Given the description of an element on the screen output the (x, y) to click on. 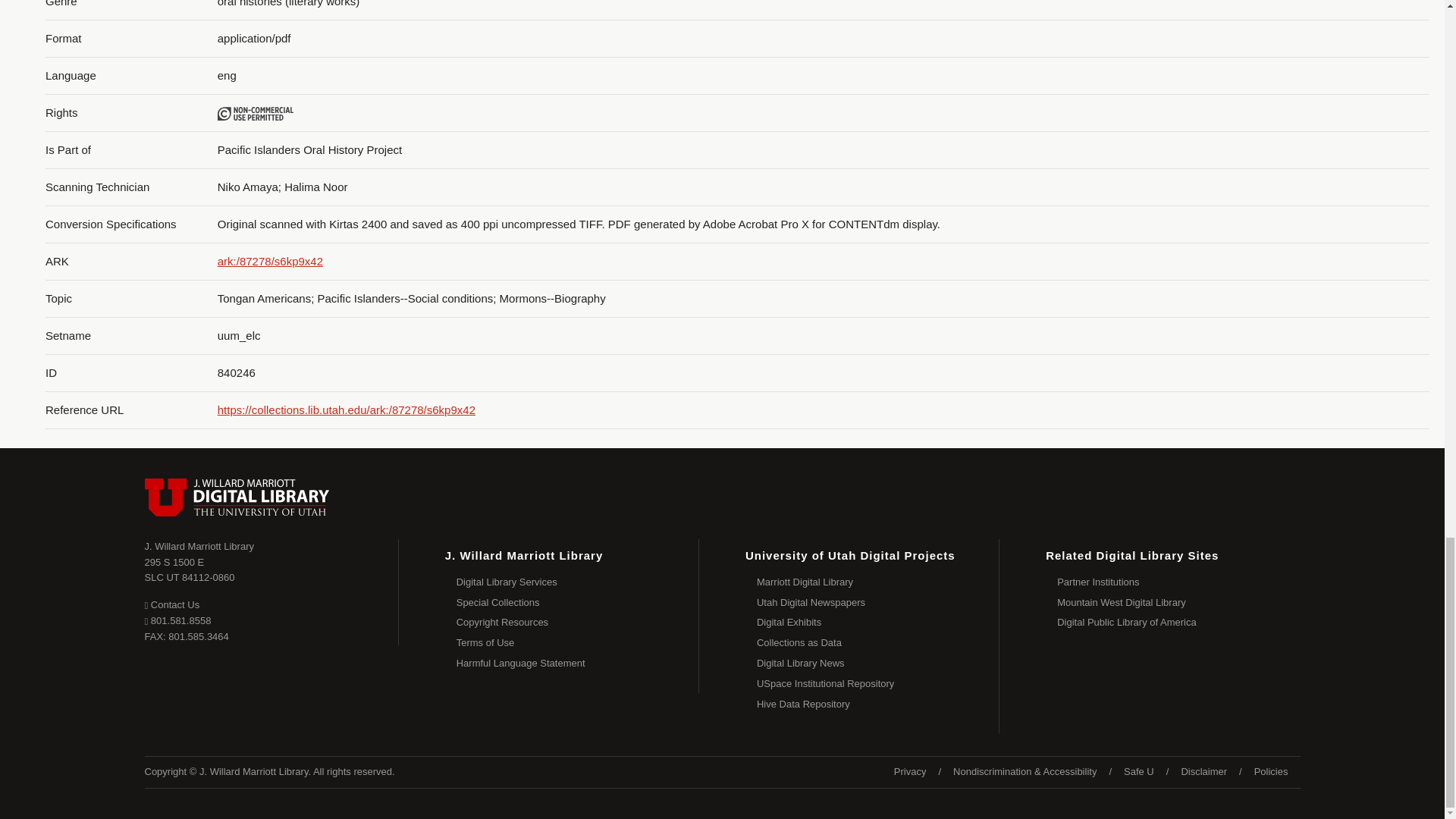
Partner Institutions (1178, 582)
Utah Digital Newspapers (877, 602)
Mountain West Digital Library (1178, 602)
Digital Library Services (577, 582)
J. Willard Marriott Library (198, 546)
Special Collections (577, 602)
Digital Exhibits (877, 622)
Copyright Resources (189, 569)
Harmful Language Statement (577, 622)
Digital Public Library of America (577, 663)
Terms of Use (1178, 622)
IN COPYRIGHT - NON-COMMERCIAL USE PERMITTED (577, 643)
Marriott Digital Library (255, 113)
Digital Library News (877, 582)
